Given the description of an element on the screen output the (x, y) to click on. 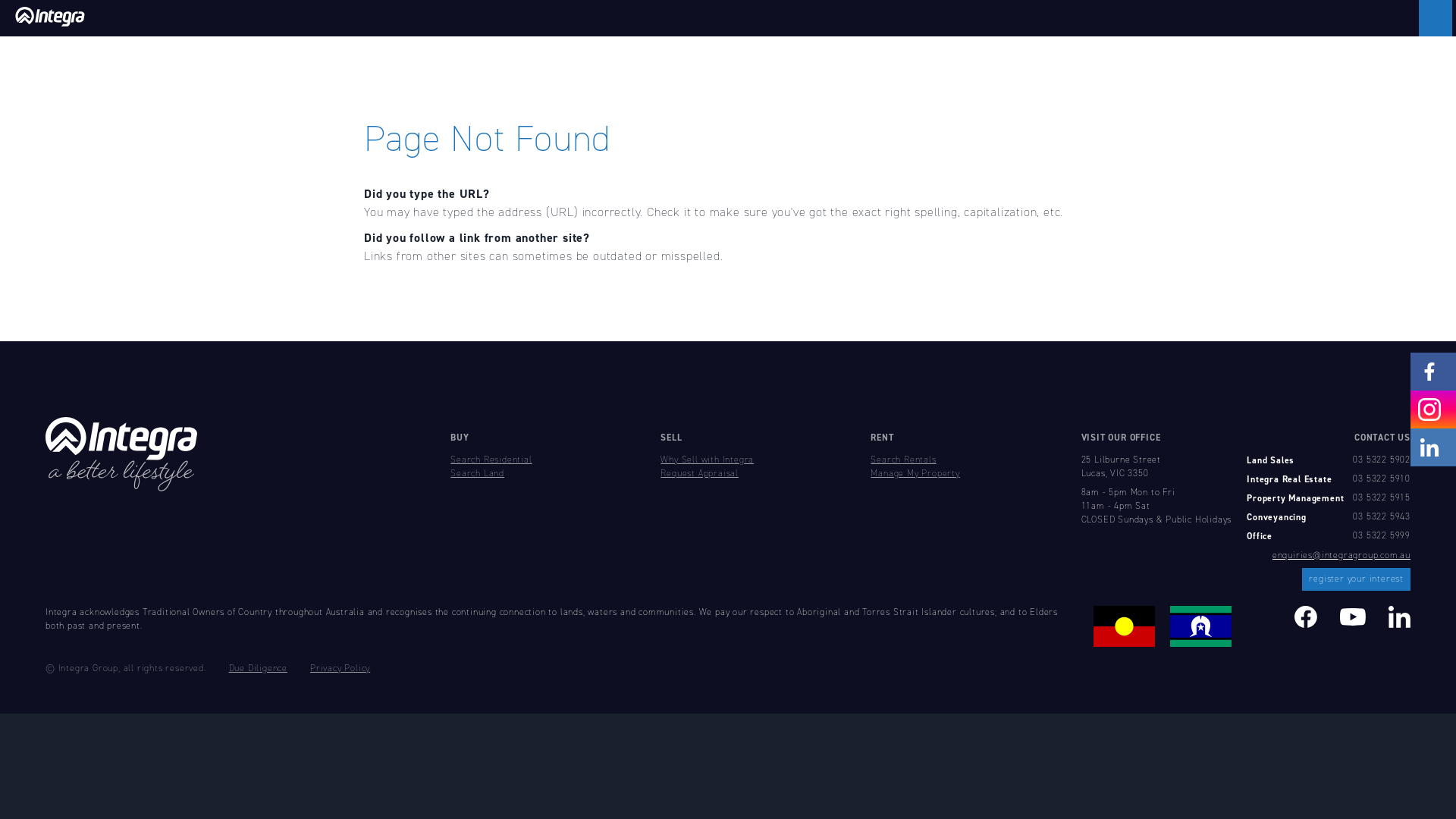
Request Appraisal Element type: text (699, 473)
03 5322 5915 Element type: text (1381, 498)
Privacy Policy Element type: text (340, 668)
Manage My Property Element type: text (914, 473)
03 5322 5943 Element type: text (1381, 517)
Due Diligence Element type: text (258, 668)
Why Sell with Integra Element type: text (706, 459)
03 5322 5902 Element type: text (1381, 460)
Search Rentals Element type: text (902, 459)
Search Land Element type: text (477, 473)
enquiries@integragroup.com.au Element type: text (1341, 555)
Go To Homepage Element type: hover (707, 18)
Search Residential Element type: text (490, 459)
03 5322 5910 Element type: text (1381, 479)
register your interest Element type: text (1356, 578)
03 5322 5999 Element type: text (1381, 535)
